Given the description of an element on the screen output the (x, y) to click on. 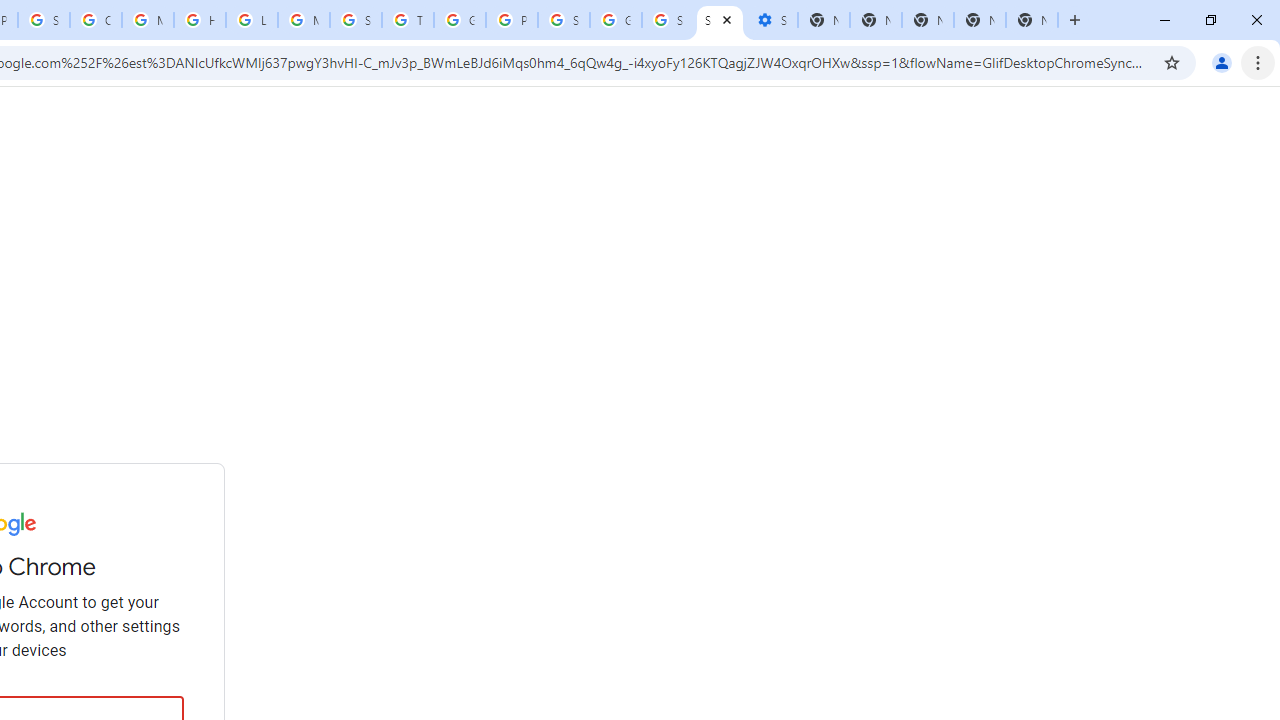
New Tab (1032, 20)
Google Ads - Sign in (459, 20)
Google Cybersecurity Innovations - Google Safety Center (616, 20)
